Given the description of an element on the screen output the (x, y) to click on. 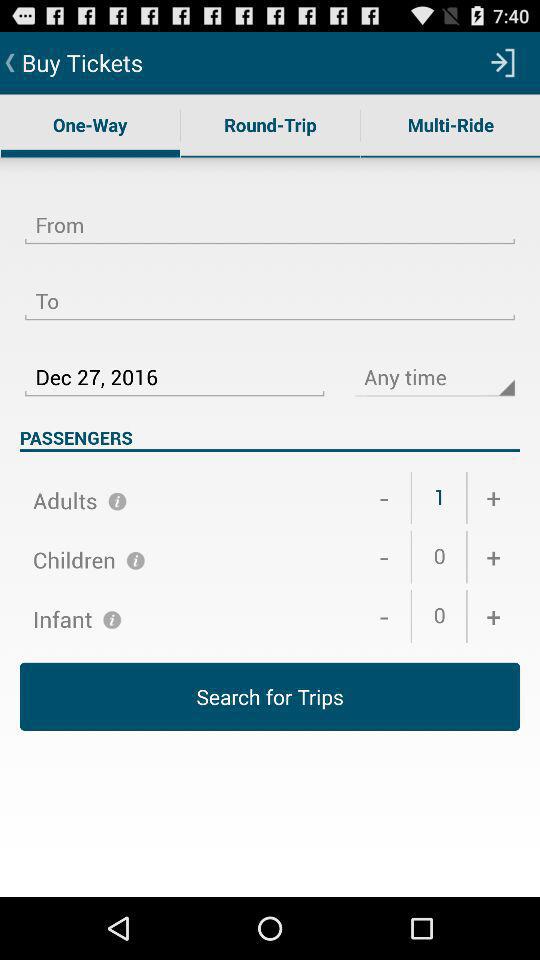
flip to the dec 27, 2016 (174, 365)
